Given the description of an element on the screen output the (x, y) to click on. 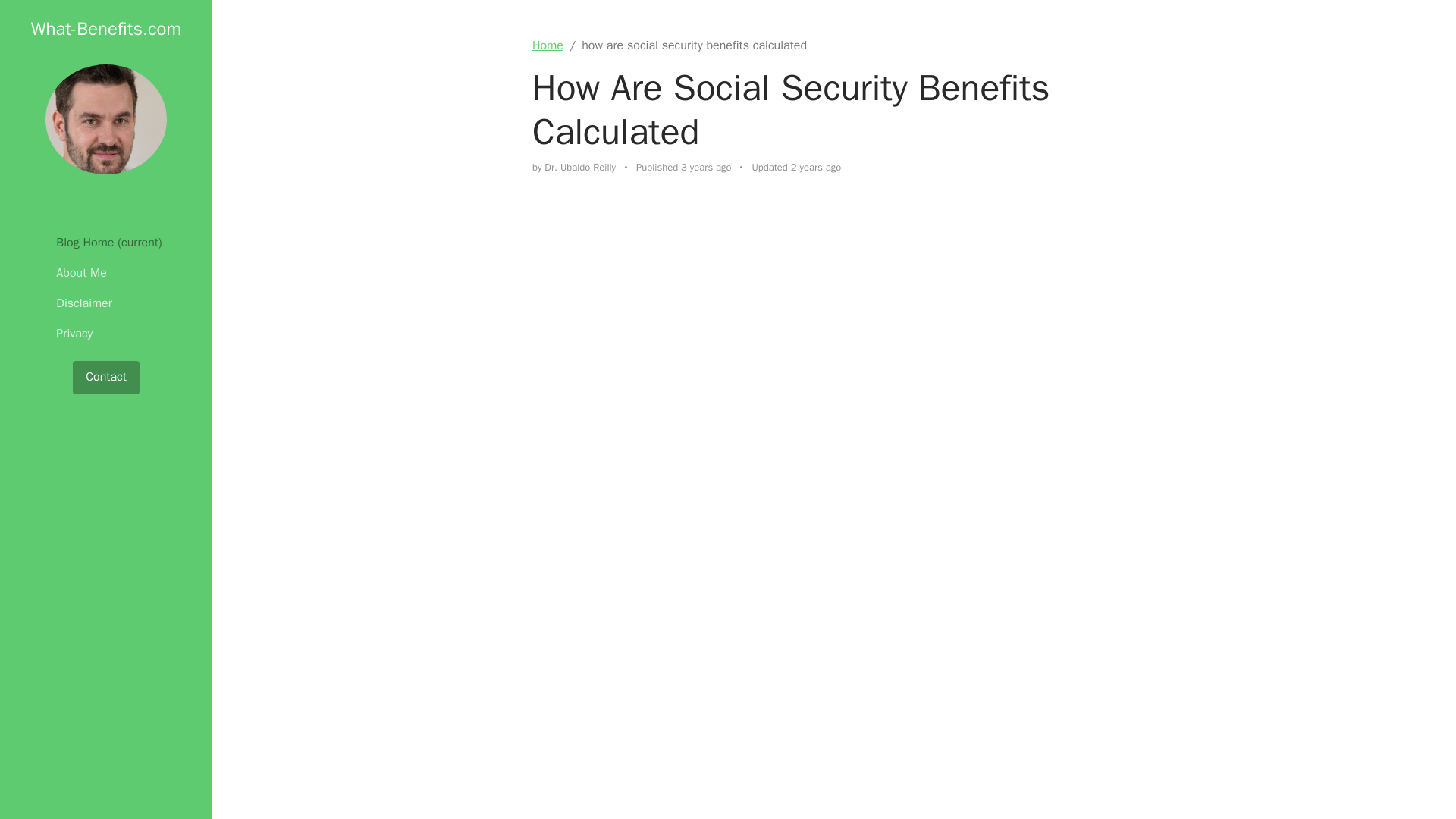
Home (547, 45)
What-Benefits.com (105, 28)
